Given the description of an element on the screen output the (x, y) to click on. 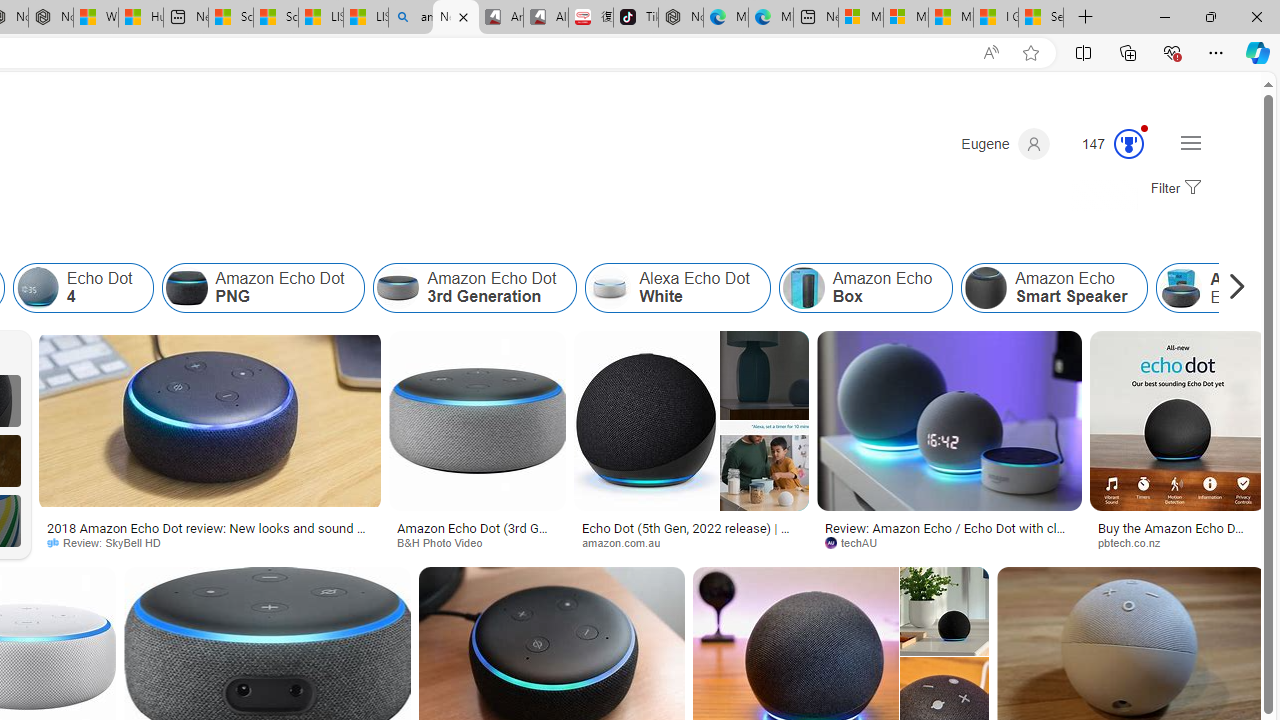
amazon.com.au (691, 542)
techAU (949, 542)
Review: SkyBell HD (111, 541)
Class: medal-svg-animation (1129, 143)
